Given the description of an element on the screen output the (x, y) to click on. 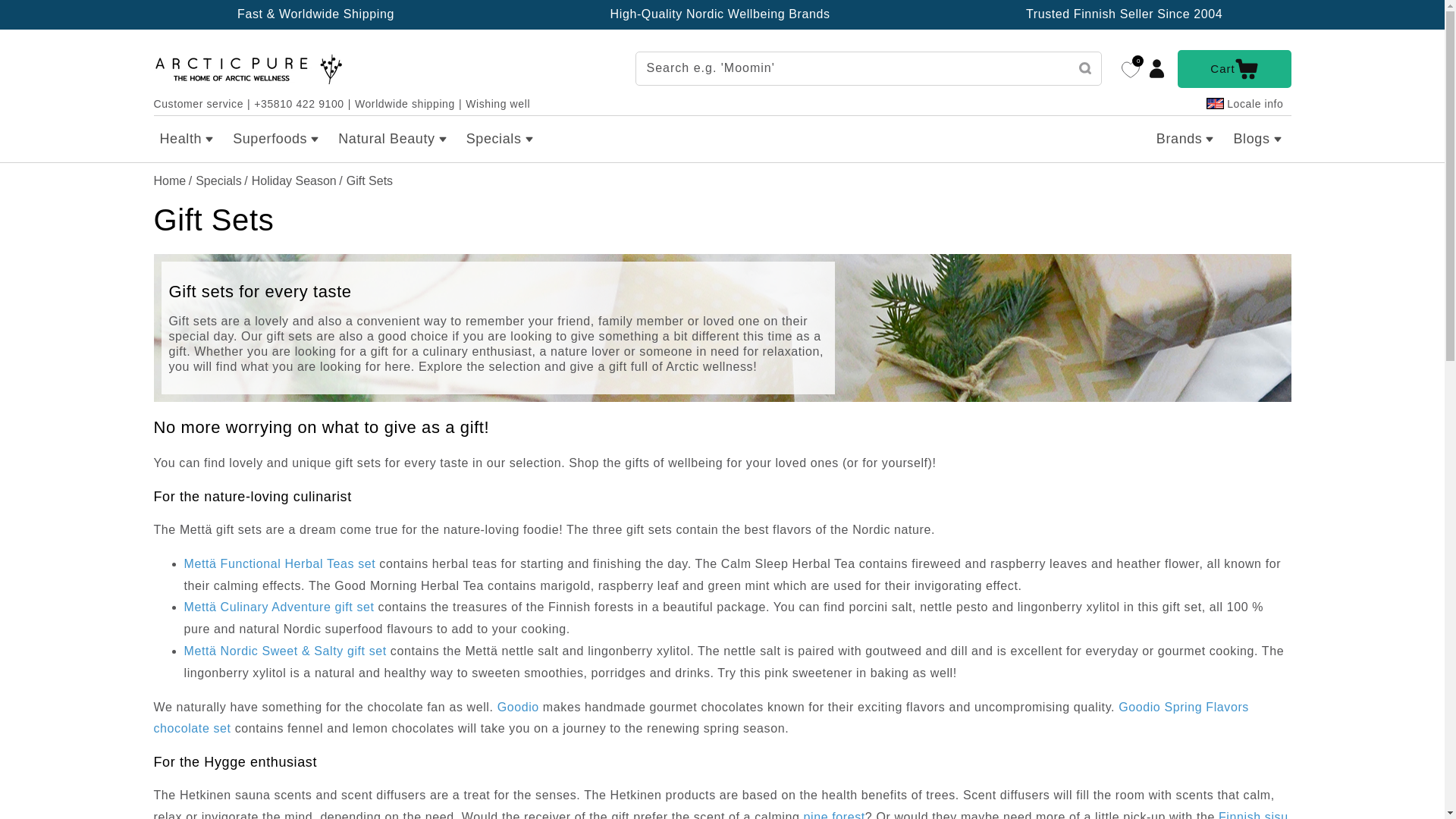
High-Quality Nordic Wellbeing Brands (719, 13)
Trusted Finnish Seller Since 2004 (1124, 13)
Skip to content (45, 16)
